Given the description of an element on the screen output the (x, y) to click on. 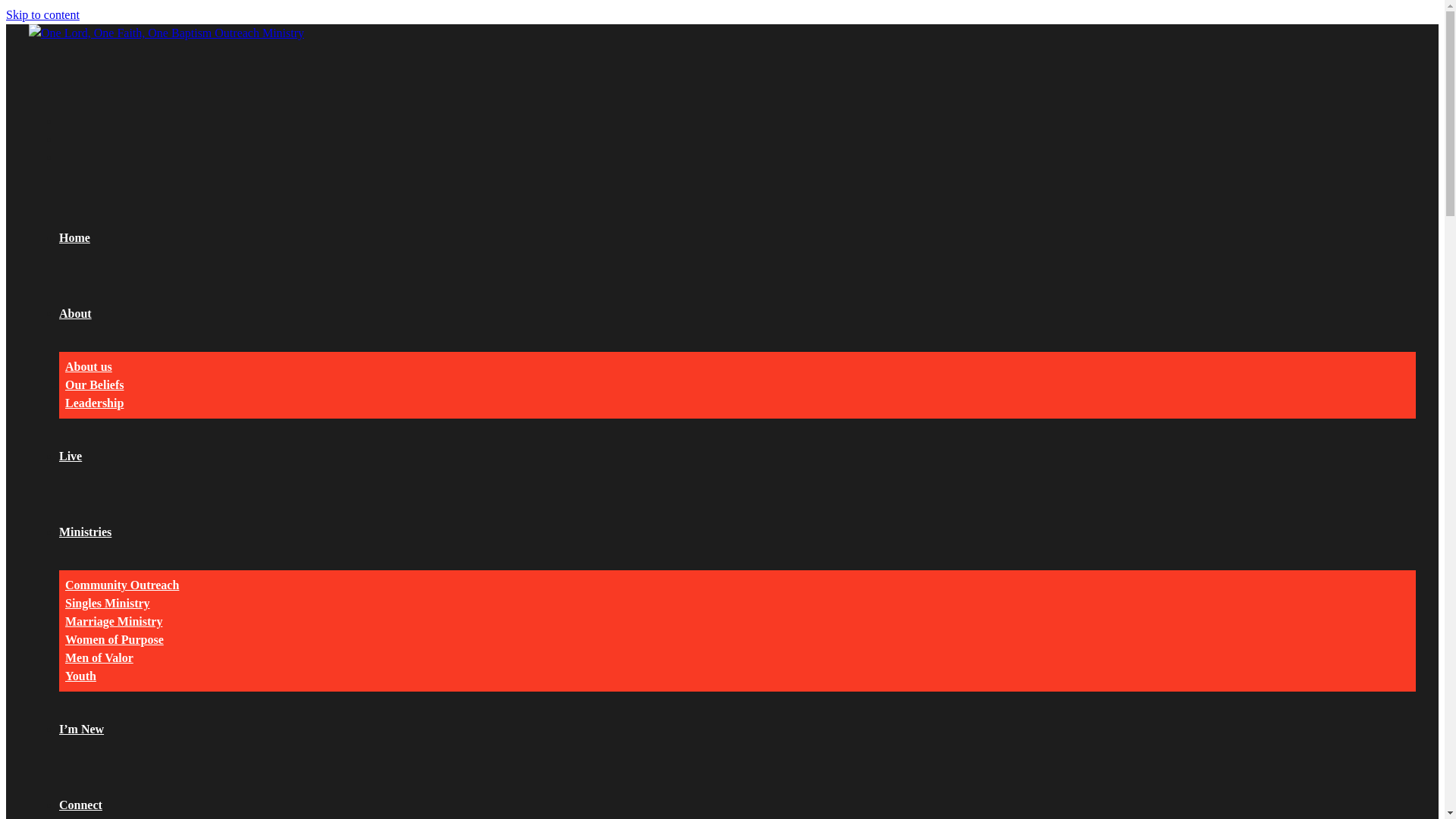
Live Element type: text (70, 455)
Men of Valor Element type: text (99, 657)
About us Element type: text (88, 366)
Leadership Element type: text (94, 402)
Women of Purpose Element type: text (114, 639)
About Element type: text (75, 313)
Skip to content Element type: text (42, 14)
Marriage Ministry Element type: text (113, 621)
Connect Element type: text (80, 804)
Youth Element type: text (80, 675)
Home Element type: text (74, 237)
Our Beliefs Element type: text (94, 384)
Ministries Element type: text (85, 531)
Singles Ministry Element type: text (107, 602)
Community Outreach Element type: text (121, 584)
